Given the description of an element on the screen output the (x, y) to click on. 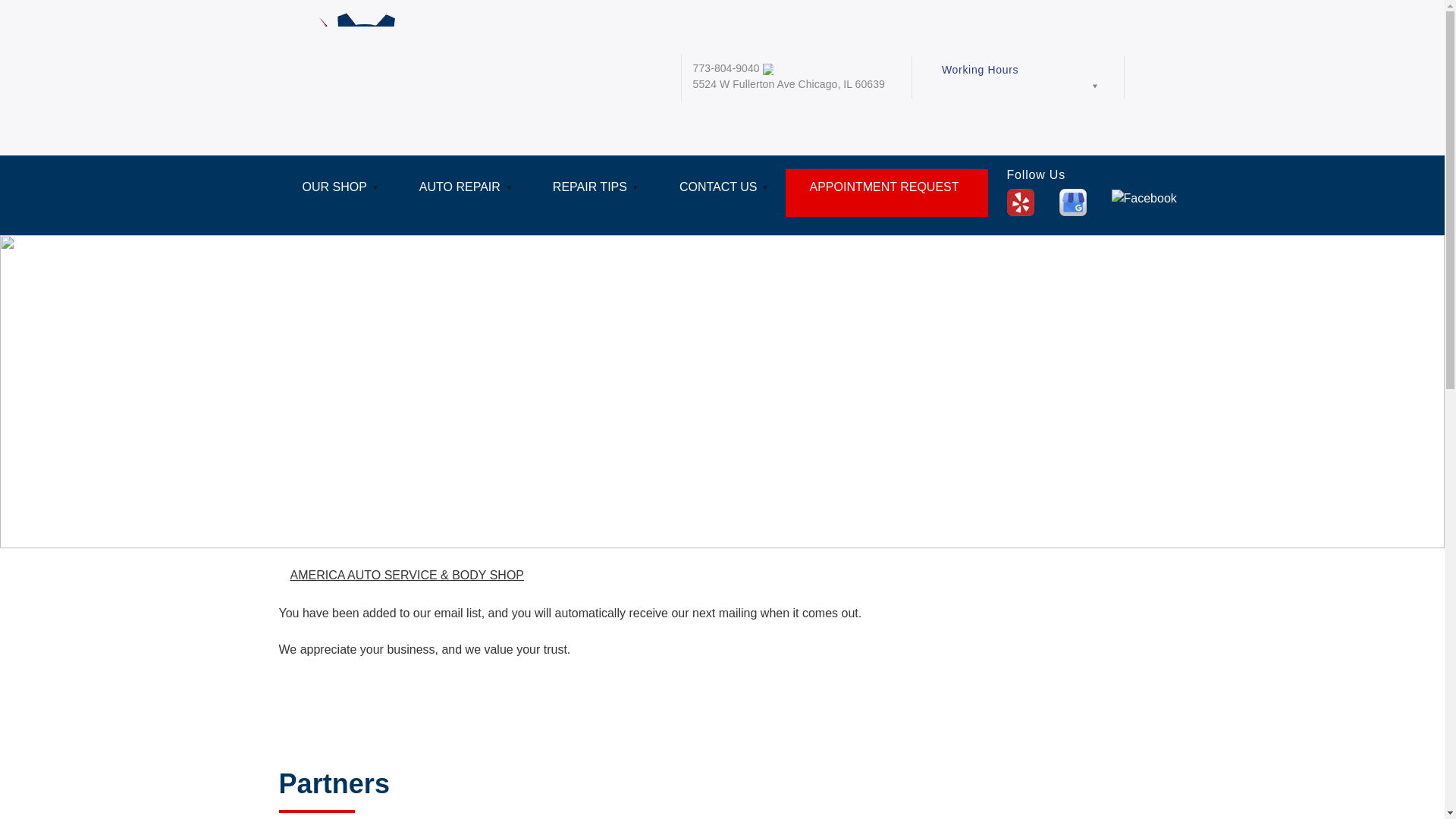
CONTACT US (721, 192)
REPAIR TIPS (592, 192)
AUTO REPAIR (462, 192)
OUR SHOP (337, 192)
APPOINTMENT REQUEST (886, 192)
773-804-9040 (726, 68)
